Given the description of an element on the screen output the (x, y) to click on. 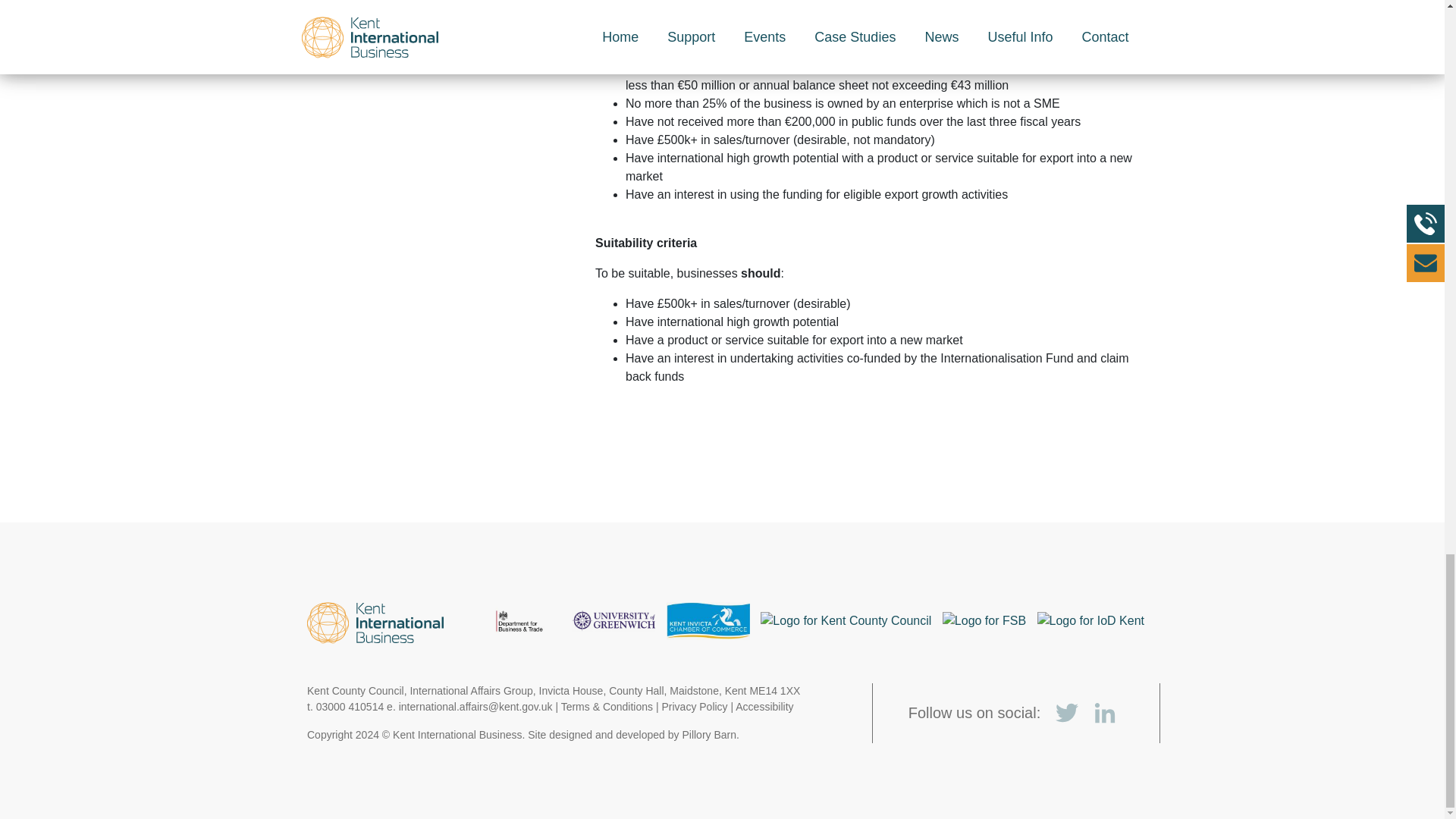
View Department for Business and Trade partner (519, 620)
Accessibility (764, 706)
View Kent County Council partner (845, 620)
FSB (984, 620)
IoD Kent (1090, 620)
Find us on Linkedin (1105, 712)
Follow us on twitter (1067, 712)
View FSB partner (984, 620)
Pillory Barn (708, 734)
Kent County Council (845, 620)
